Given the description of an element on the screen output the (x, y) to click on. 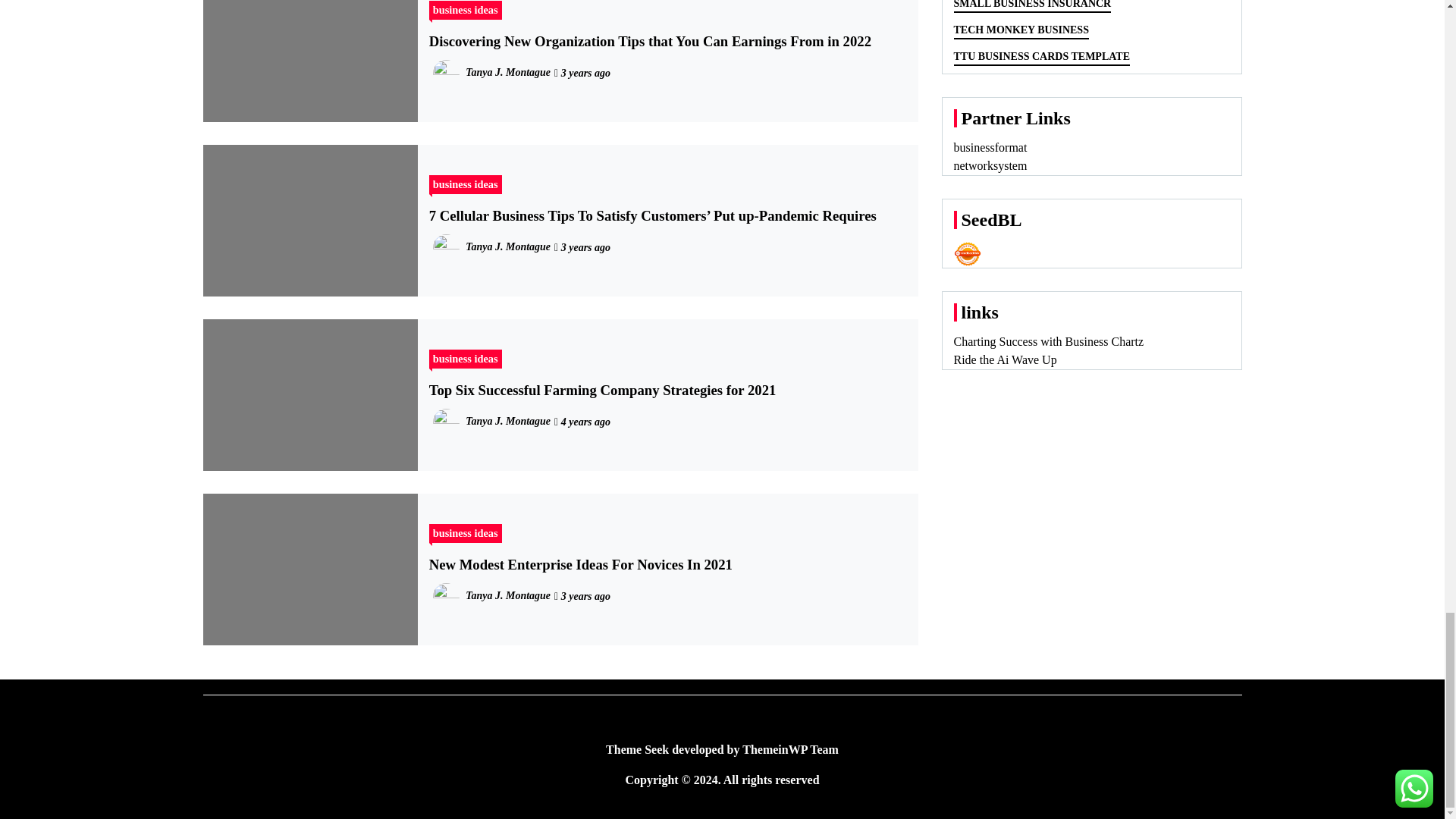
Seedbacklink (967, 253)
